Given the description of an element on the screen output the (x, y) to click on. 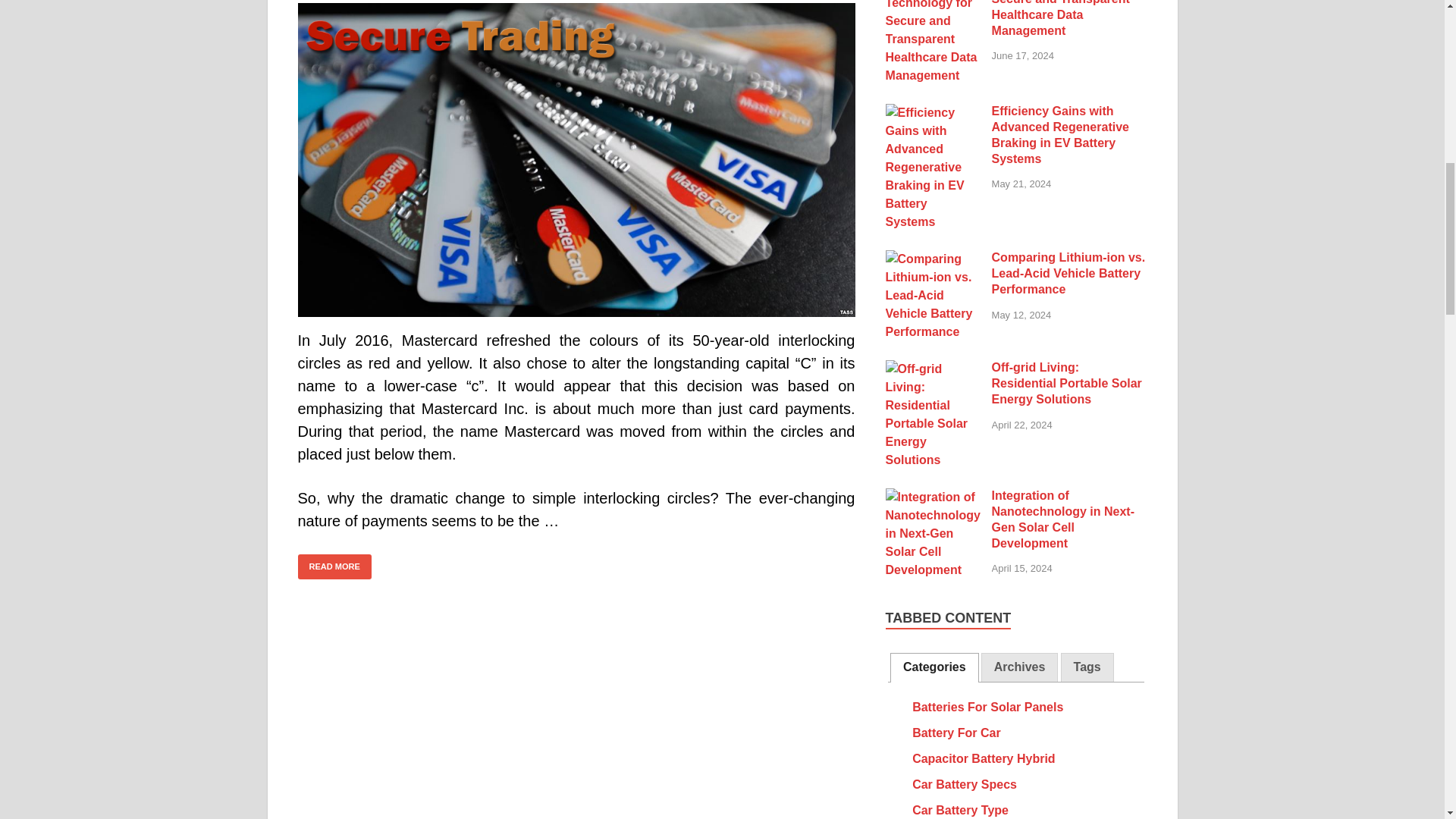
Off-grid Living: Residential Portable Solar Energy Solutions (932, 368)
